Given the description of an element on the screen output the (x, y) to click on. 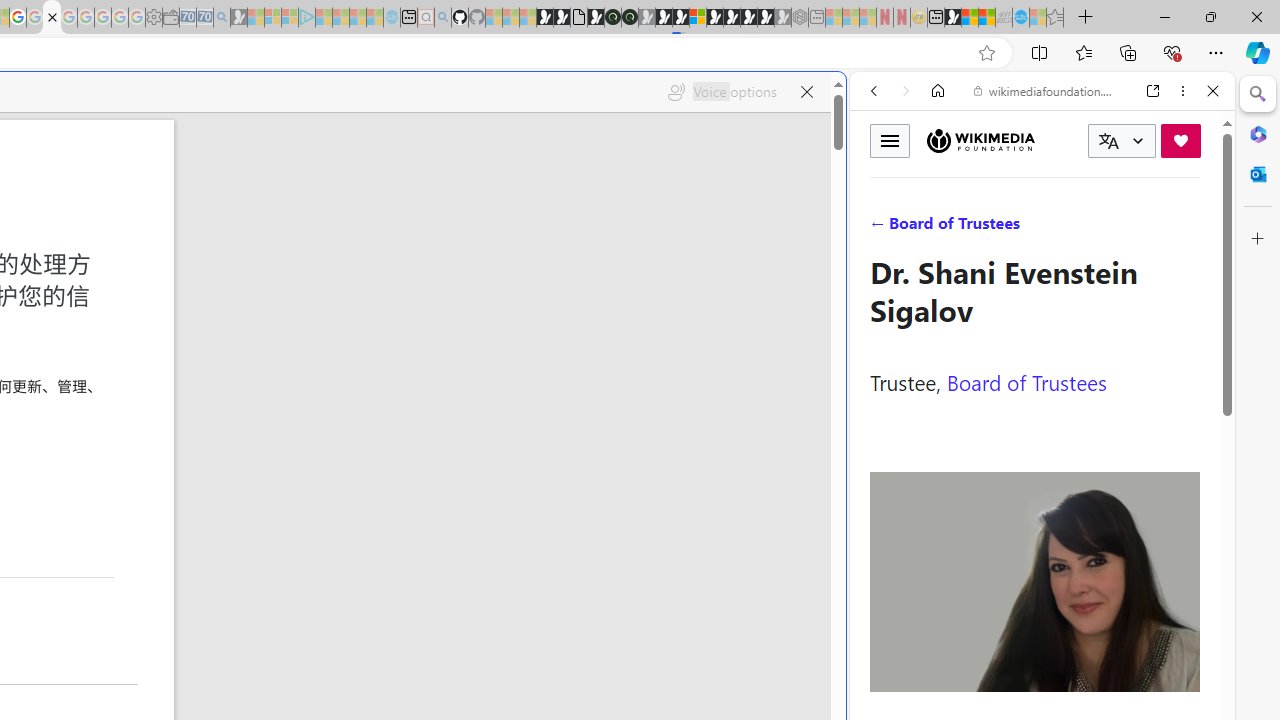
Close Outlook pane (1258, 174)
Preferences (1189, 228)
SEARCH TOOLS (1093, 228)
Open link in new tab (1153, 91)
Microsoft 365 (1258, 133)
Search Filter, WEB (882, 228)
Favorites (1083, 52)
Wikimedia Foundation (980, 140)
Search (1258, 94)
Home | Sky Blue Bikes - Sky Blue Bikes - Sleeping (392, 17)
